Given the description of an element on the screen output the (x, y) to click on. 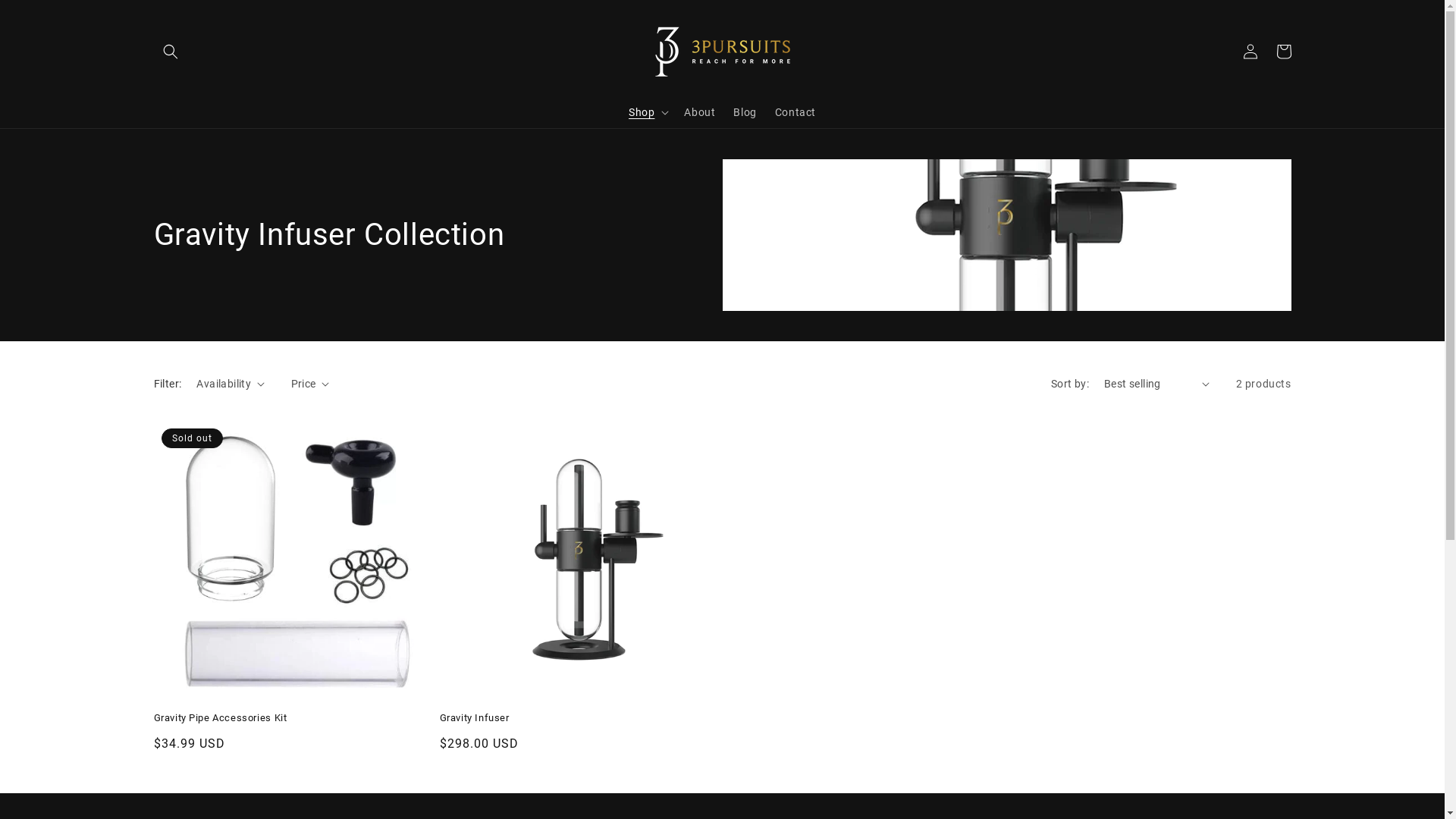
About Element type: text (699, 111)
Gravity Pipe Accessories Kit Element type: text (293, 718)
Cart Element type: text (1282, 51)
Log in Element type: text (1249, 51)
Gravity Infuser Element type: text (579, 718)
Contact Element type: text (795, 111)
Blog Element type: text (744, 111)
